Given the description of an element on the screen output the (x, y) to click on. 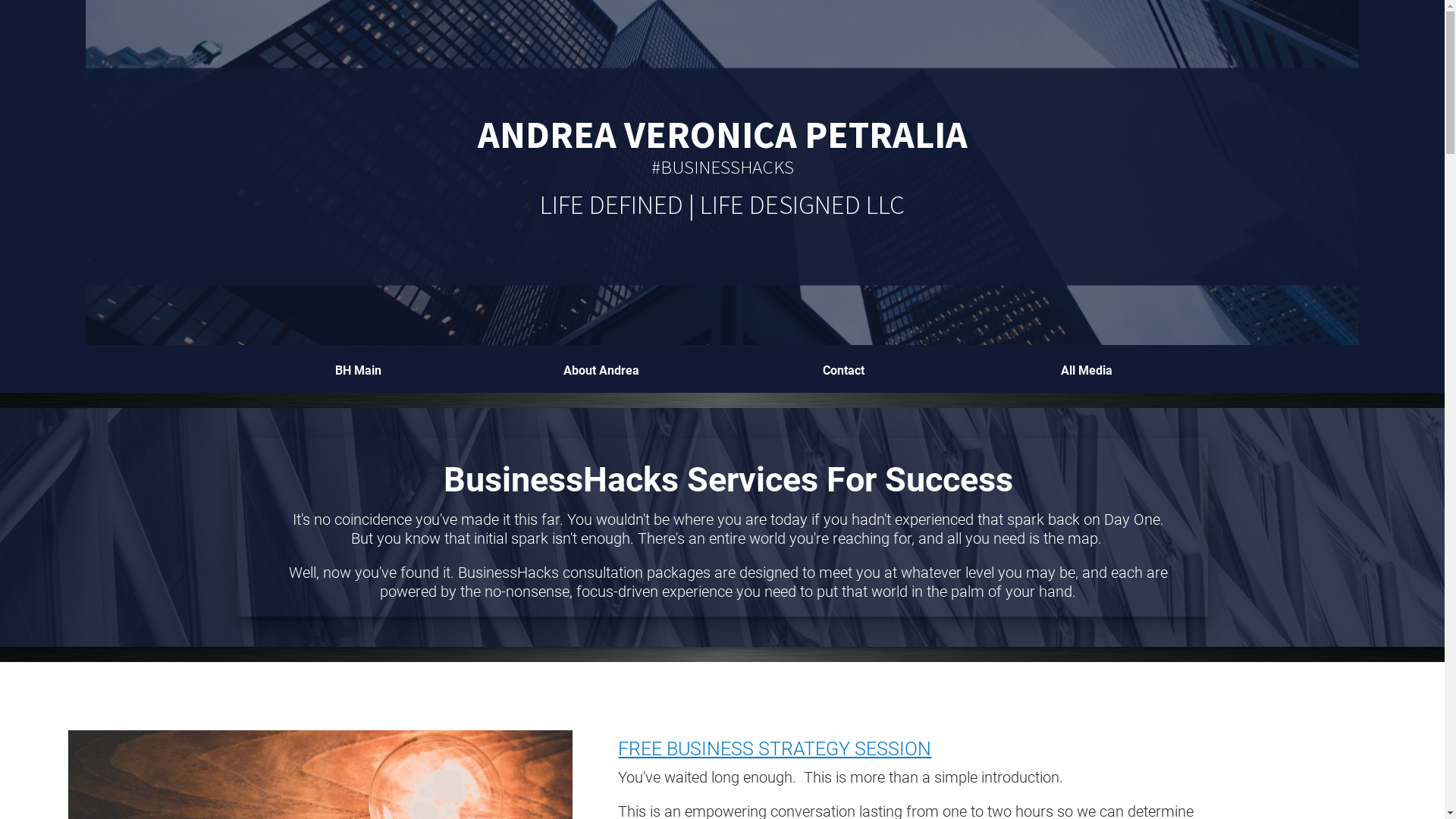
BH Main Element type: text (357, 370)
Contact Element type: text (842, 370)
FREE BUSINESS STRATEGY SESSION Element type: text (774, 748)
All Media Element type: text (1085, 370)
About Andrea Element type: text (600, 370)
